Given the description of an element on the screen output the (x, y) to click on. 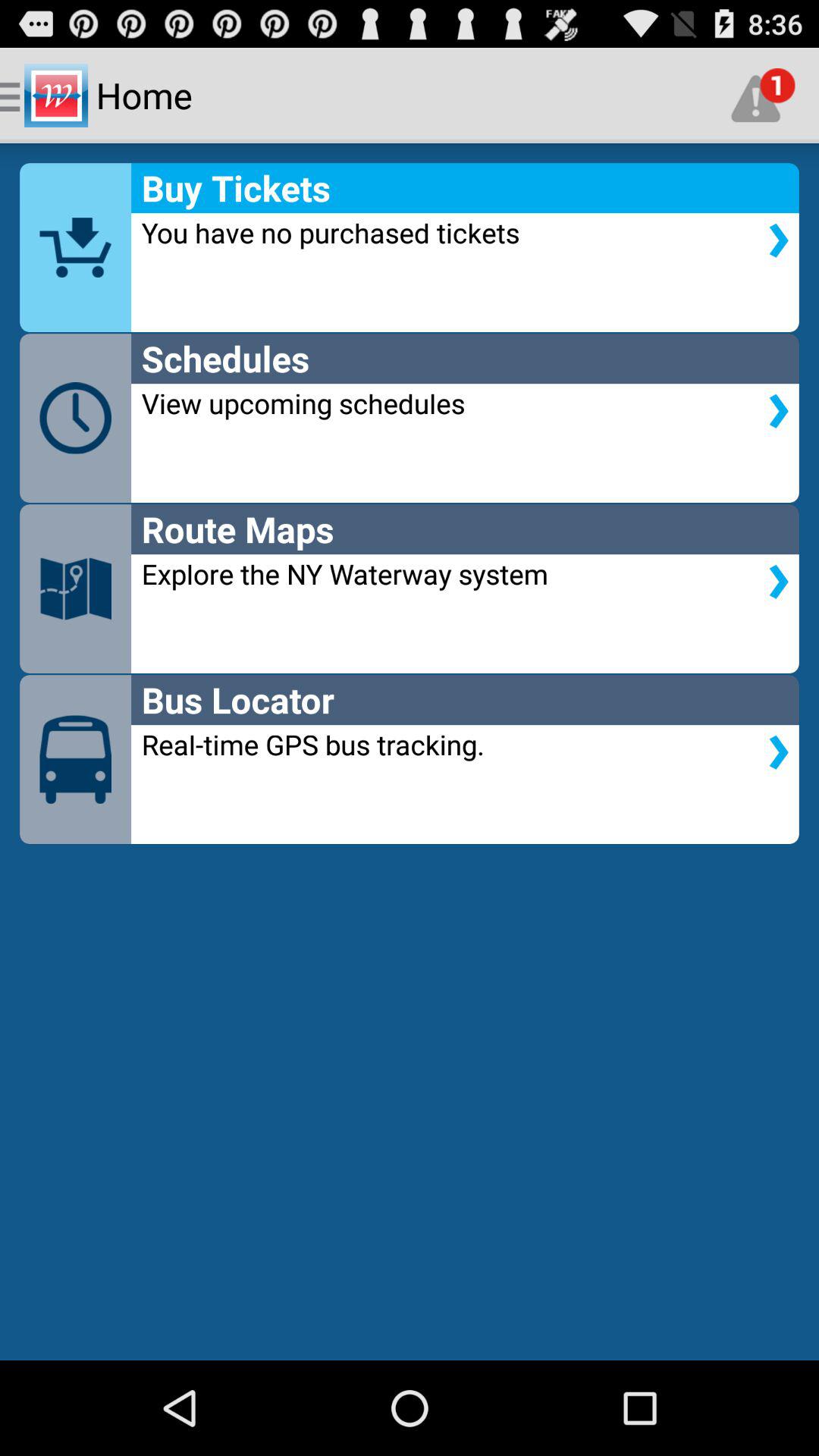
choose the icon above the you have no icon (763, 95)
